Given the description of an element on the screen output the (x, y) to click on. 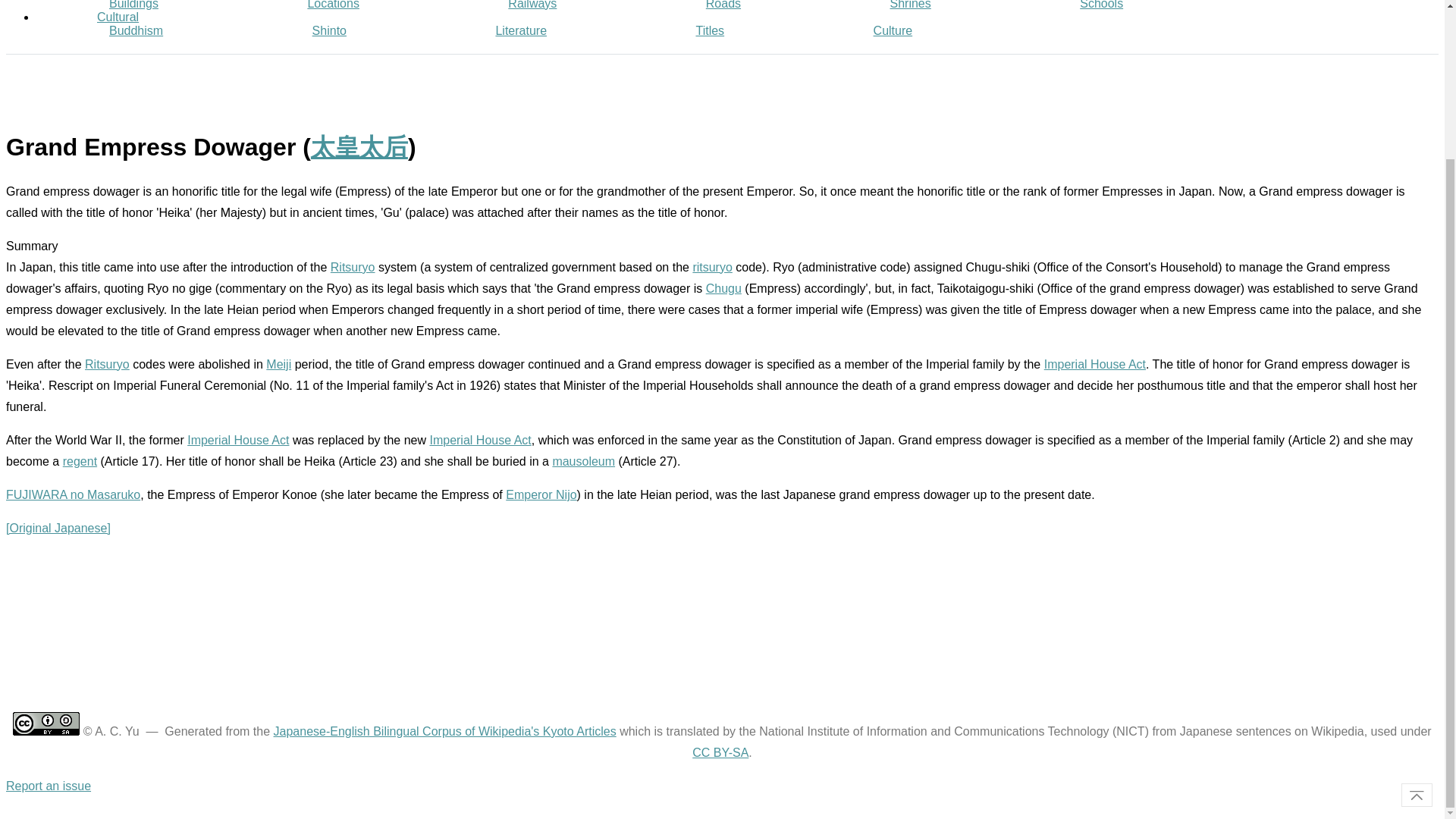
Buddhism (135, 30)
regent (79, 461)
Meiji (278, 364)
Schools (1101, 4)
FUJIWARA no Masaruko (72, 494)
Railways (531, 4)
Buildings (133, 4)
Chugu (723, 287)
Imperial House Act (480, 440)
Shinto (329, 30)
Roads (723, 4)
Culture (892, 30)
ritsuryo (712, 267)
Locations (333, 4)
Titles (709, 30)
